Given the description of an element on the screen output the (x, y) to click on. 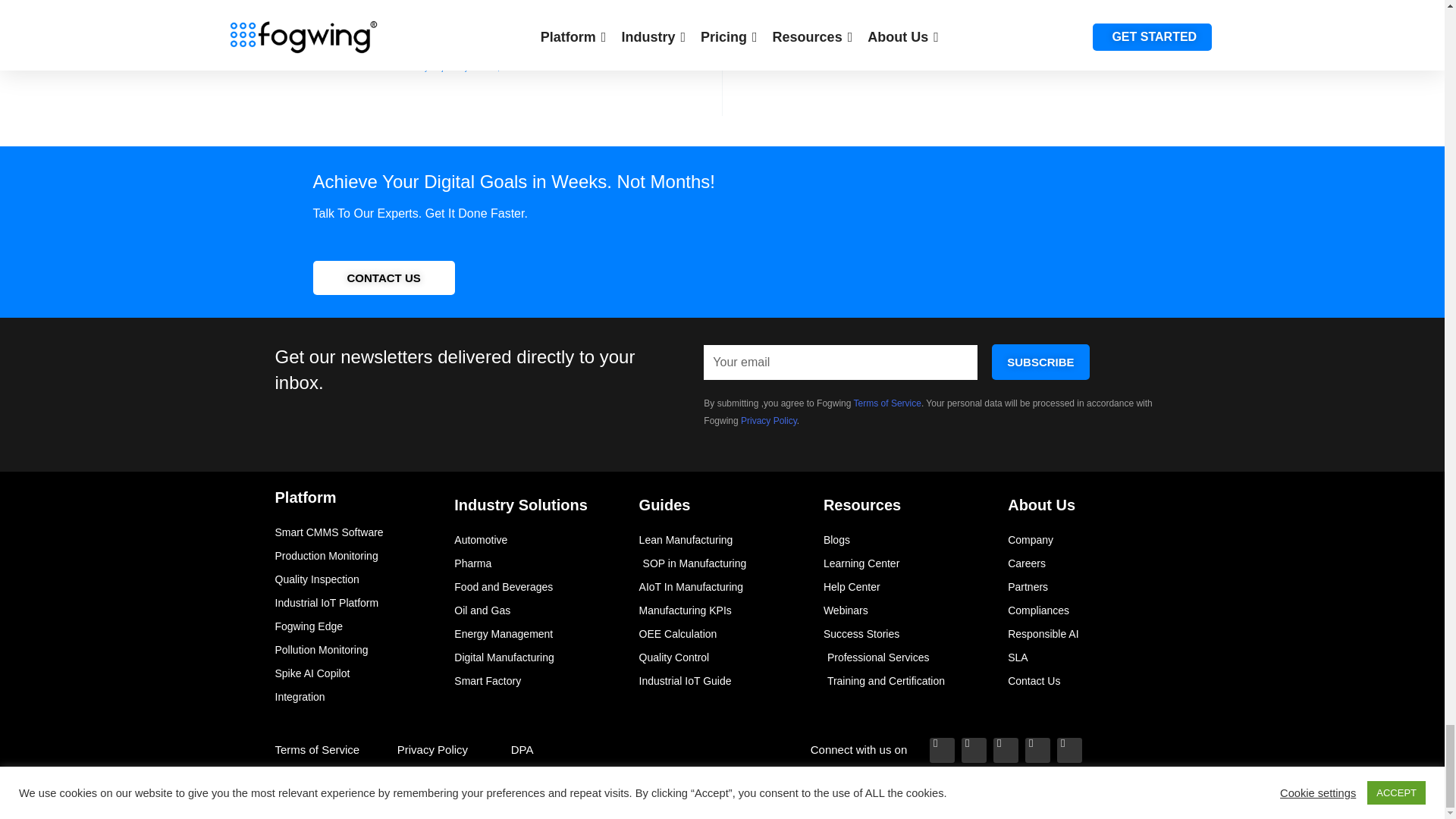
View all posts by Pooja Shetty (311, 27)
View all posts by Pooja Shetty (449, 68)
View all posts by Hariharan Ganesh (595, 54)
